Given the description of an element on the screen output the (x, y) to click on. 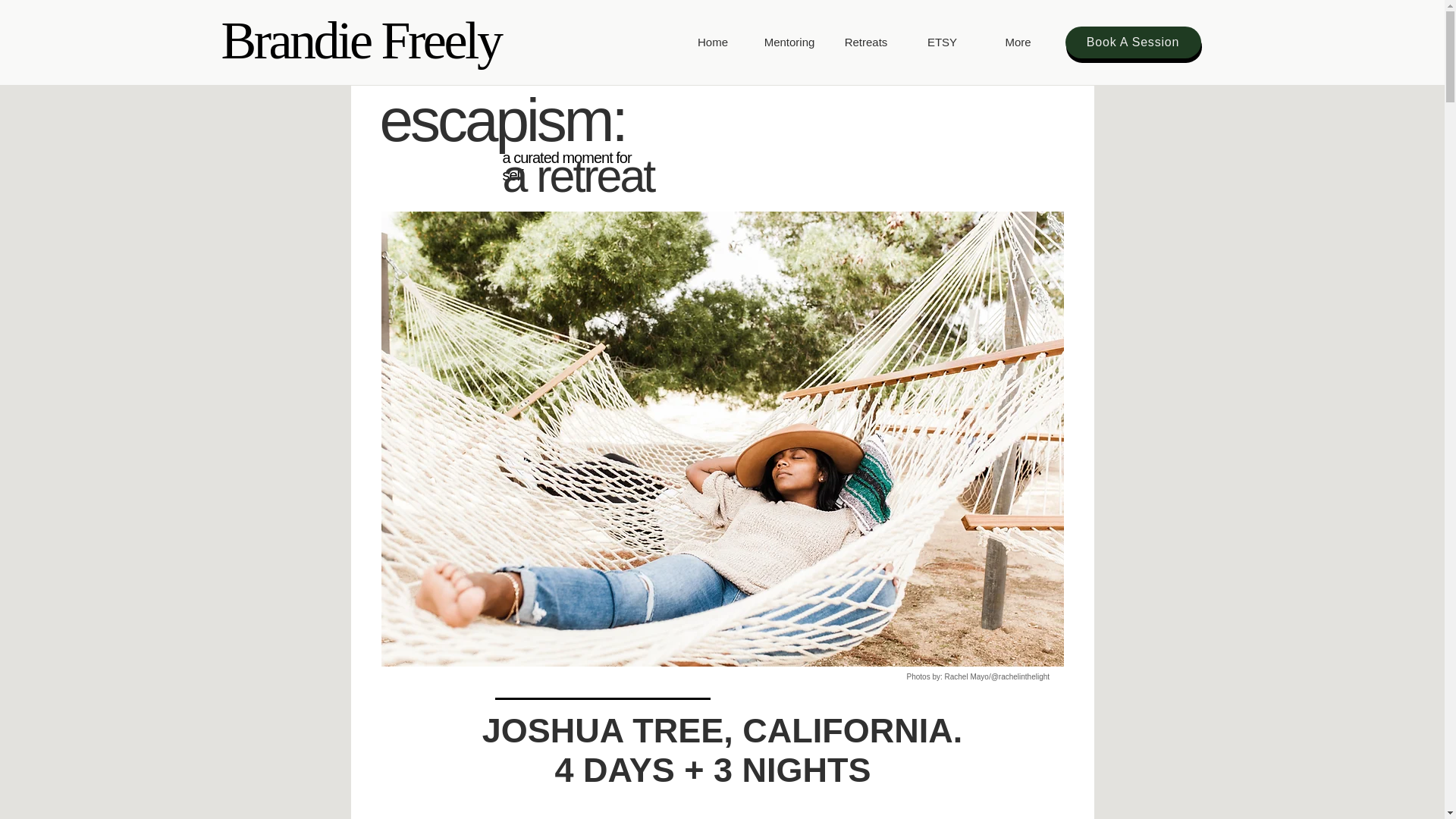
ETSY (941, 42)
Brandie Freely (360, 39)
Book A Session (1131, 42)
Mentoring (789, 42)
Retreats (866, 42)
Home (713, 42)
